Given the description of an element on the screen output the (x, y) to click on. 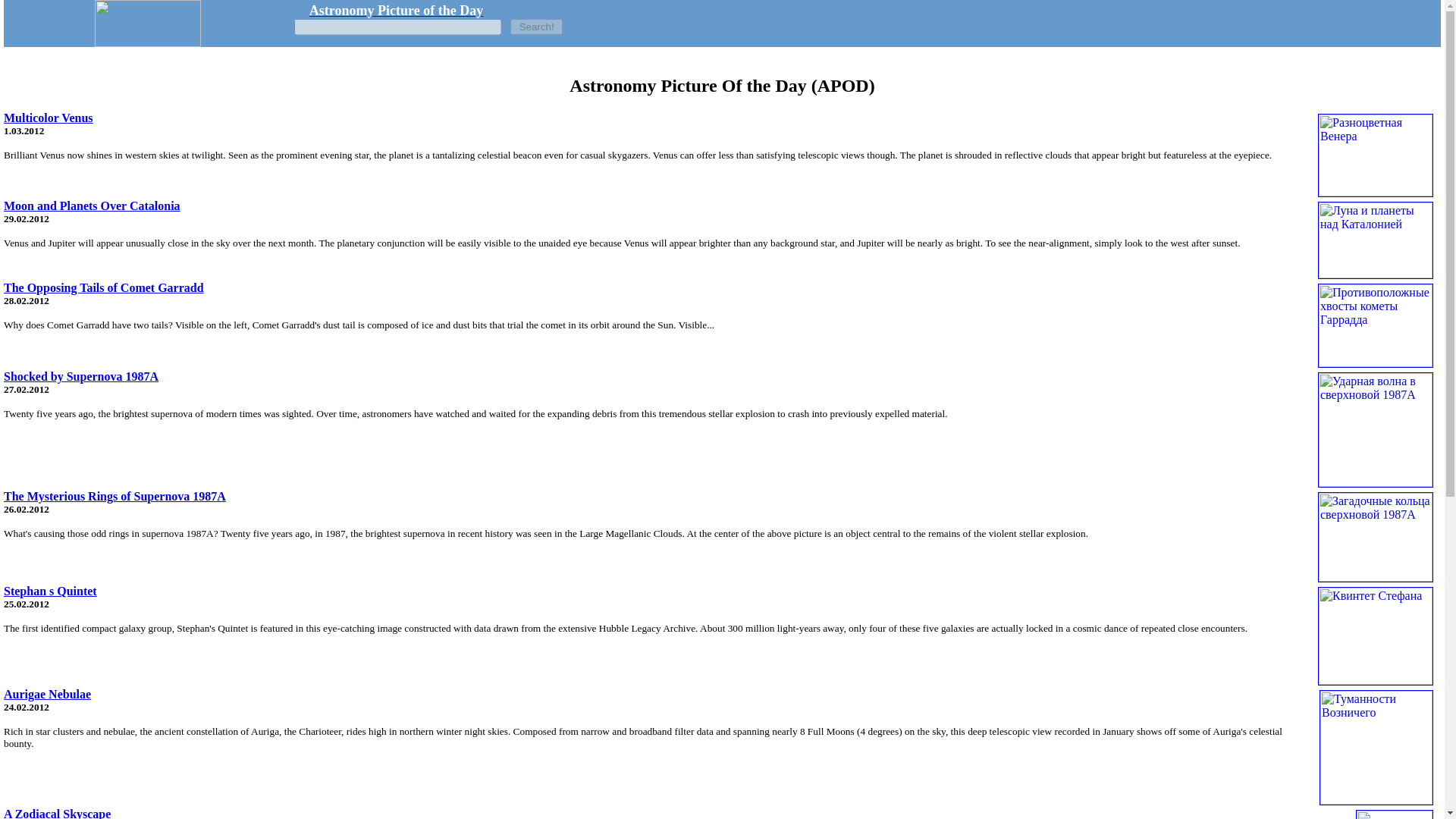
The Opposing Tails of Comet Garradd (103, 287)
Shocked by Supernova 1987A (81, 376)
The Mysterious Rings of Supernova 1987A (114, 495)
A Zodiacal Skyscape (57, 813)
Aurigae Nebulae (47, 694)
Multicolor Venus (48, 117)
Stephan s Quintet (50, 590)
Moon and Planets Over Catalonia (92, 205)
Astronomy Picture of the Day (395, 10)
